Given the description of an element on the screen output the (x, y) to click on. 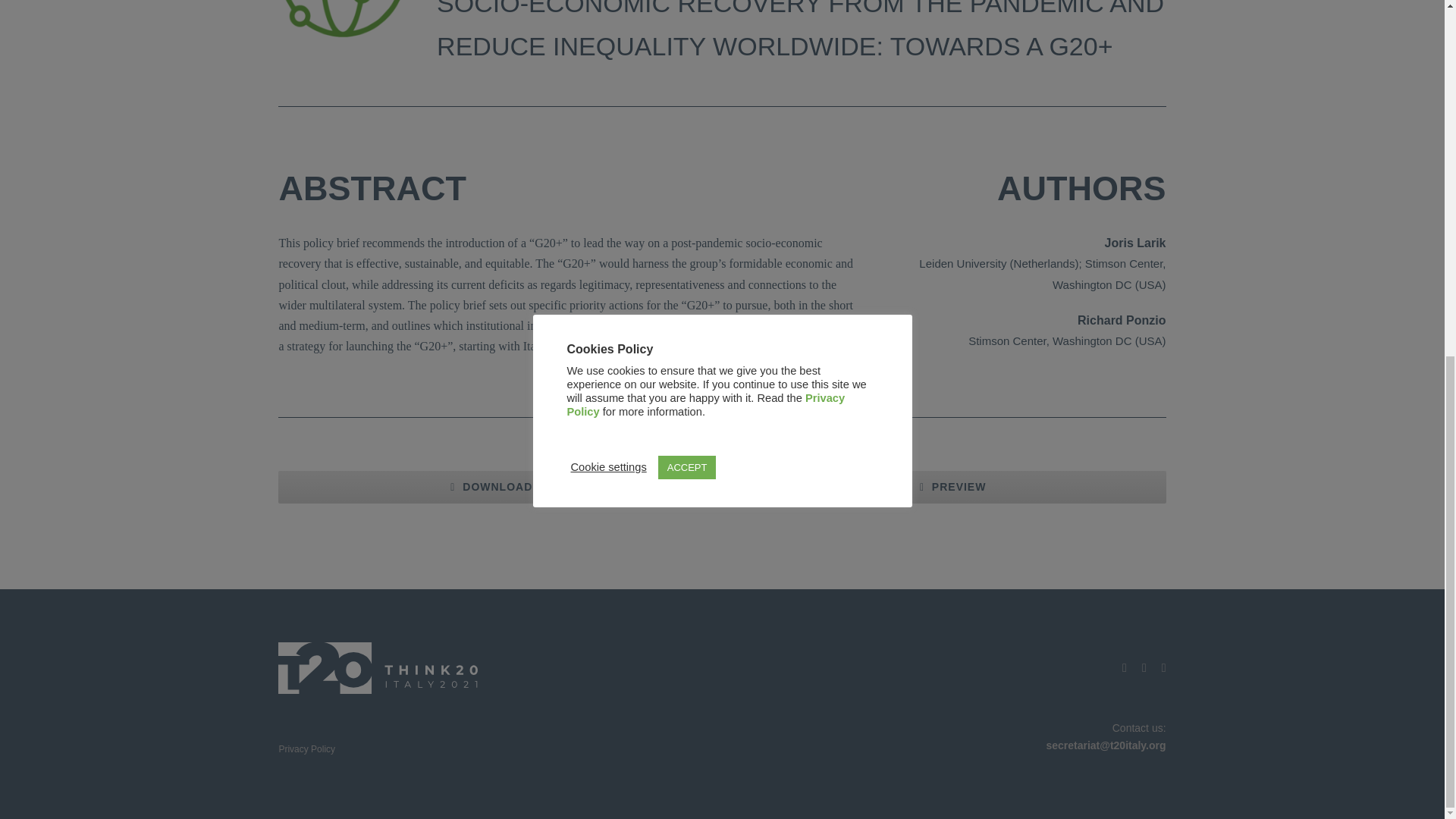
ico-35 (343, 28)
